Given the description of an element on the screen output the (x, y) to click on. 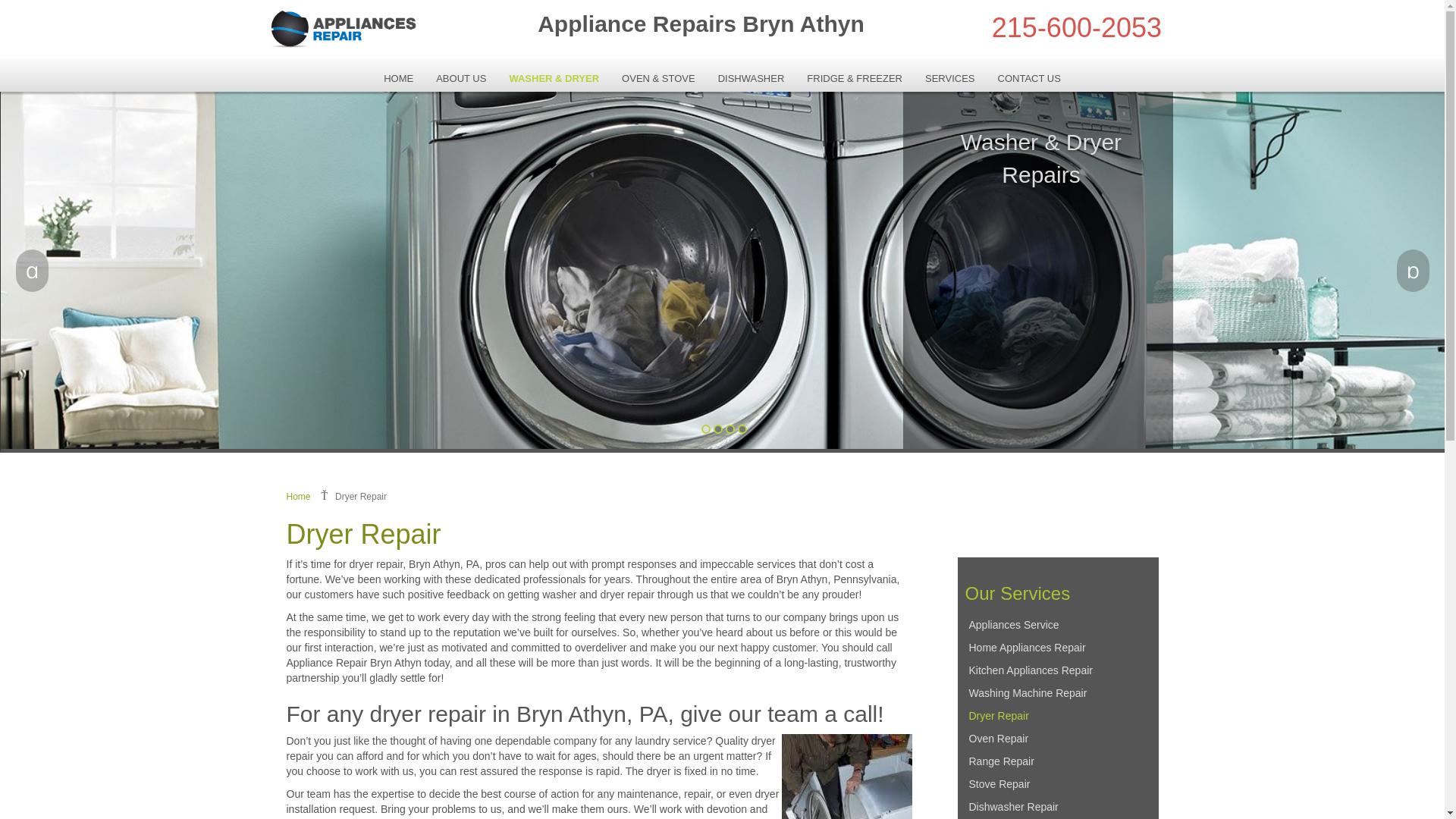
215-600-2053 (1076, 27)
HOME (398, 78)
DISHWASHER (751, 78)
CONTACT US (1029, 78)
SERVICES (950, 78)
ABOUT US (461, 78)
